Given the description of an element on the screen output the (x, y) to click on. 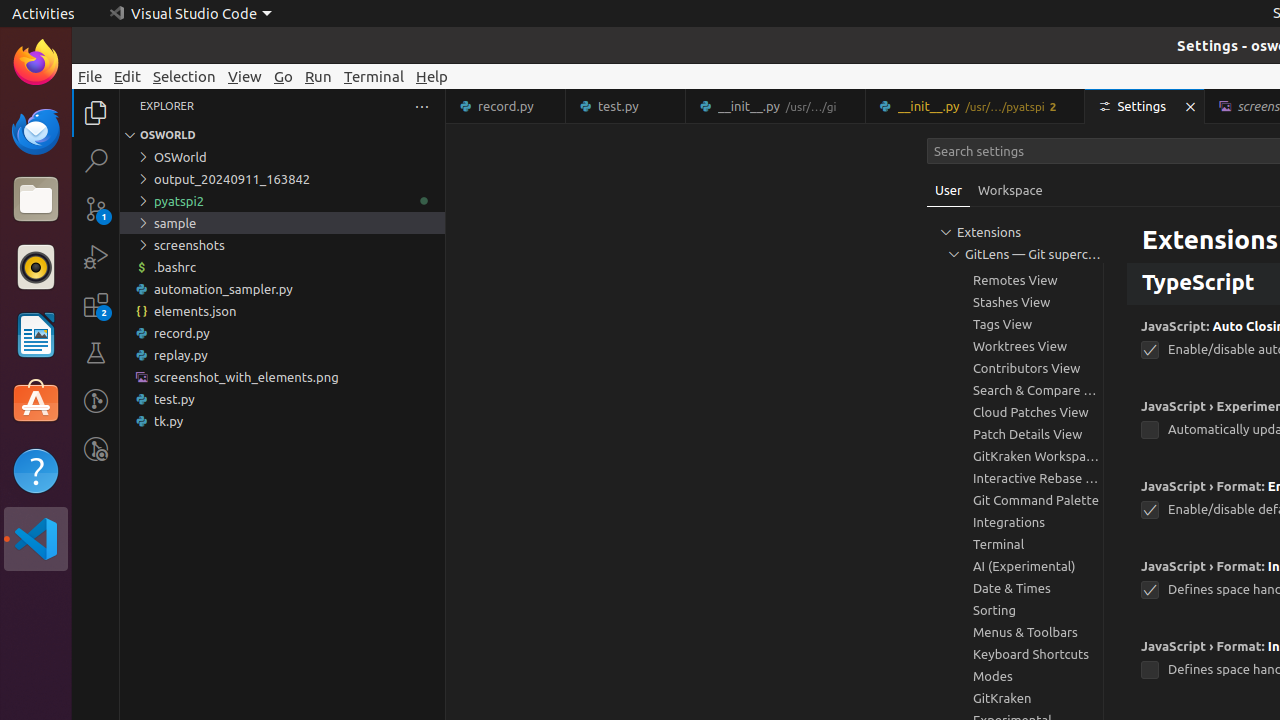
.bashrc Element type: tree-item (282, 267)
tk.py Element type: tree-item (282, 421)
Terminal, group Element type: tree-item (1015, 544)
Contributors View, group Element type: tree-item (1015, 368)
